Given the description of an element on the screen output the (x, y) to click on. 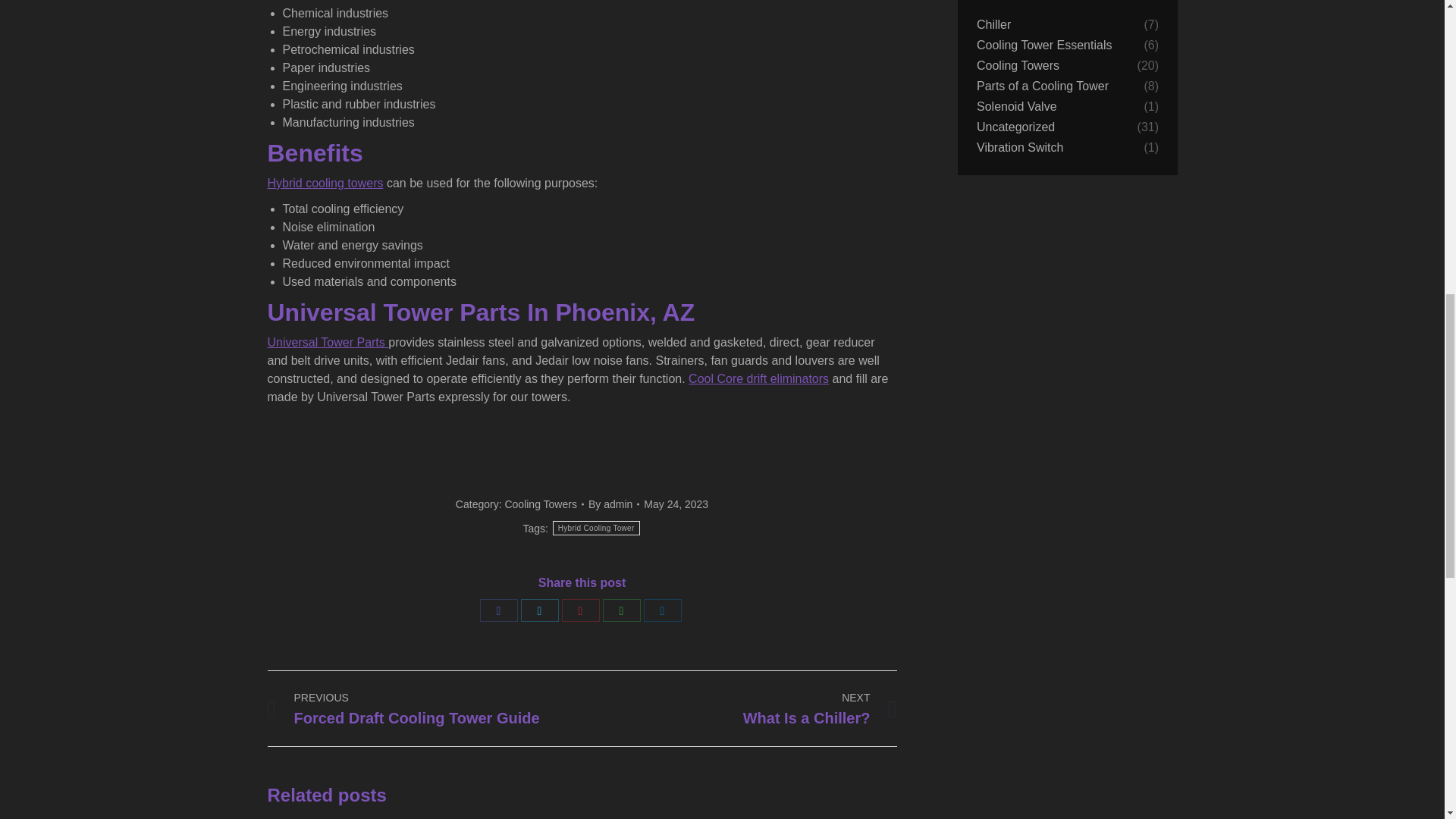
Twitter (538, 609)
Pinterest (579, 609)
5:24 pm (675, 503)
WhatsApp (621, 609)
LinkedIn (662, 609)
View all posts by admin (613, 503)
Facebook (497, 609)
